Given the description of an element on the screen output the (x, y) to click on. 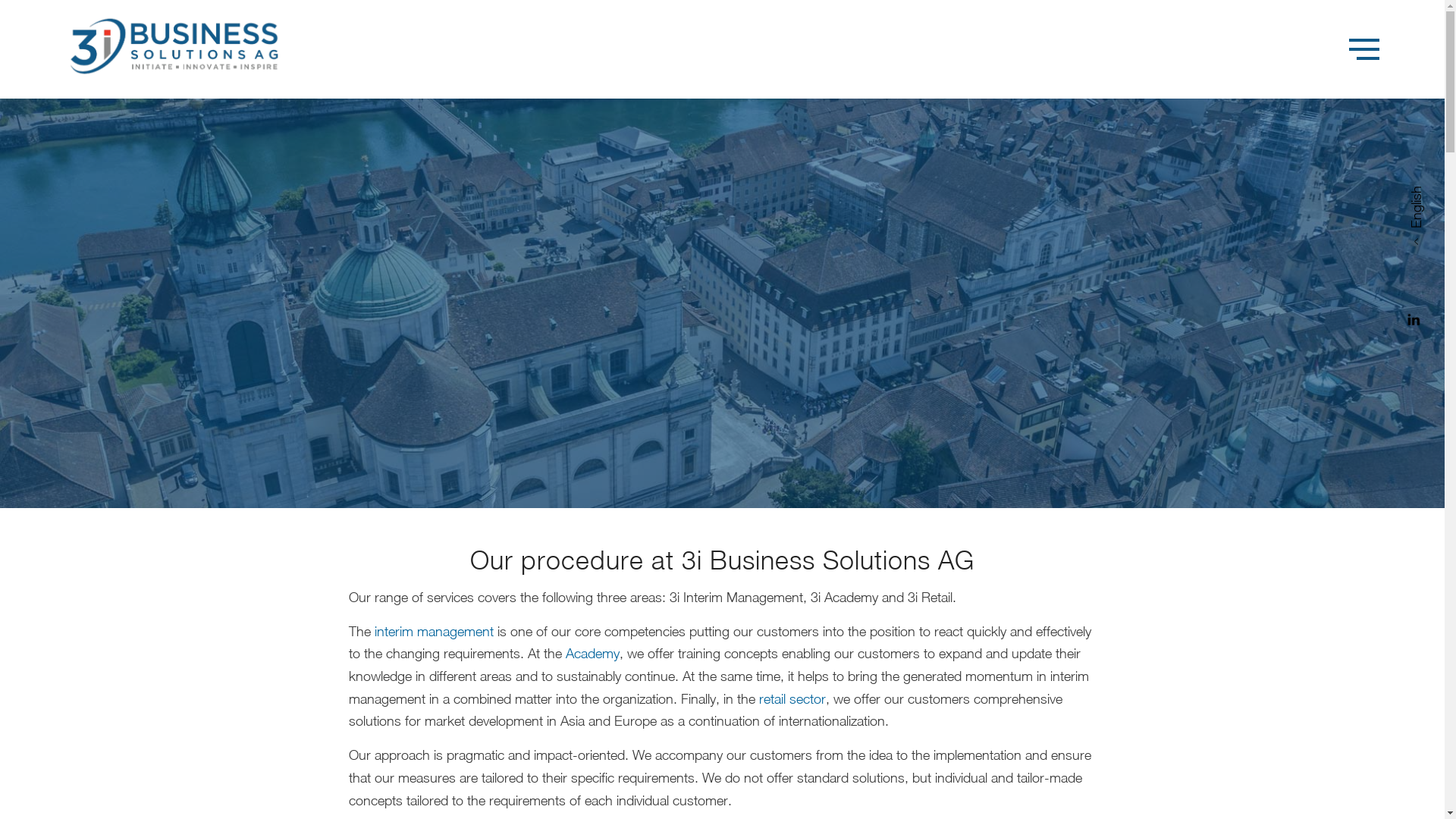
Academy Element type: text (592, 653)
retail sector Element type: text (792, 698)
interim management Element type: text (433, 631)
linkedin Element type: text (1413, 322)
